Given the description of an element on the screen output the (x, y) to click on. 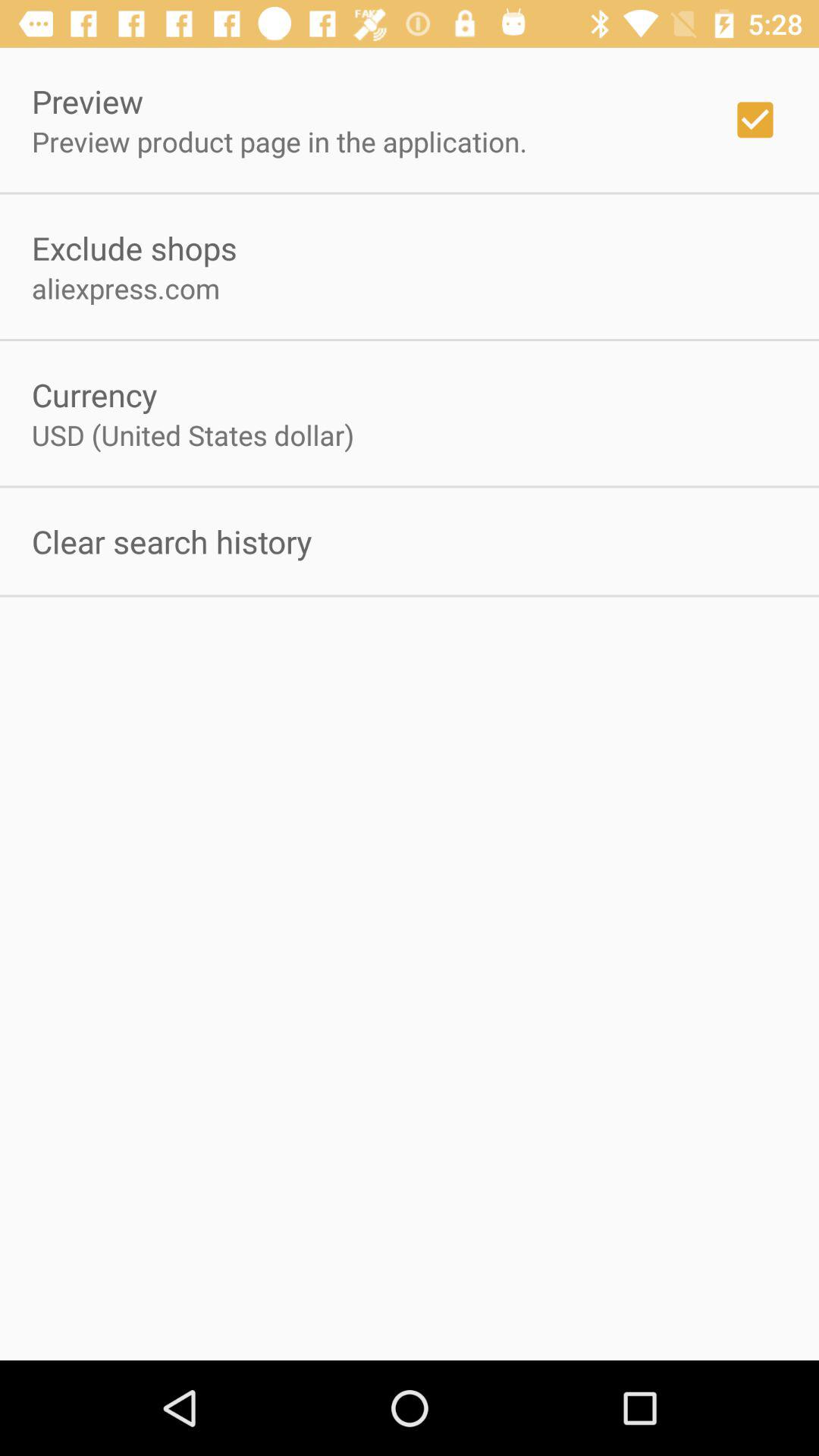
select the item above the usd united states icon (94, 394)
